Given the description of an element on the screen output the (x, y) to click on. 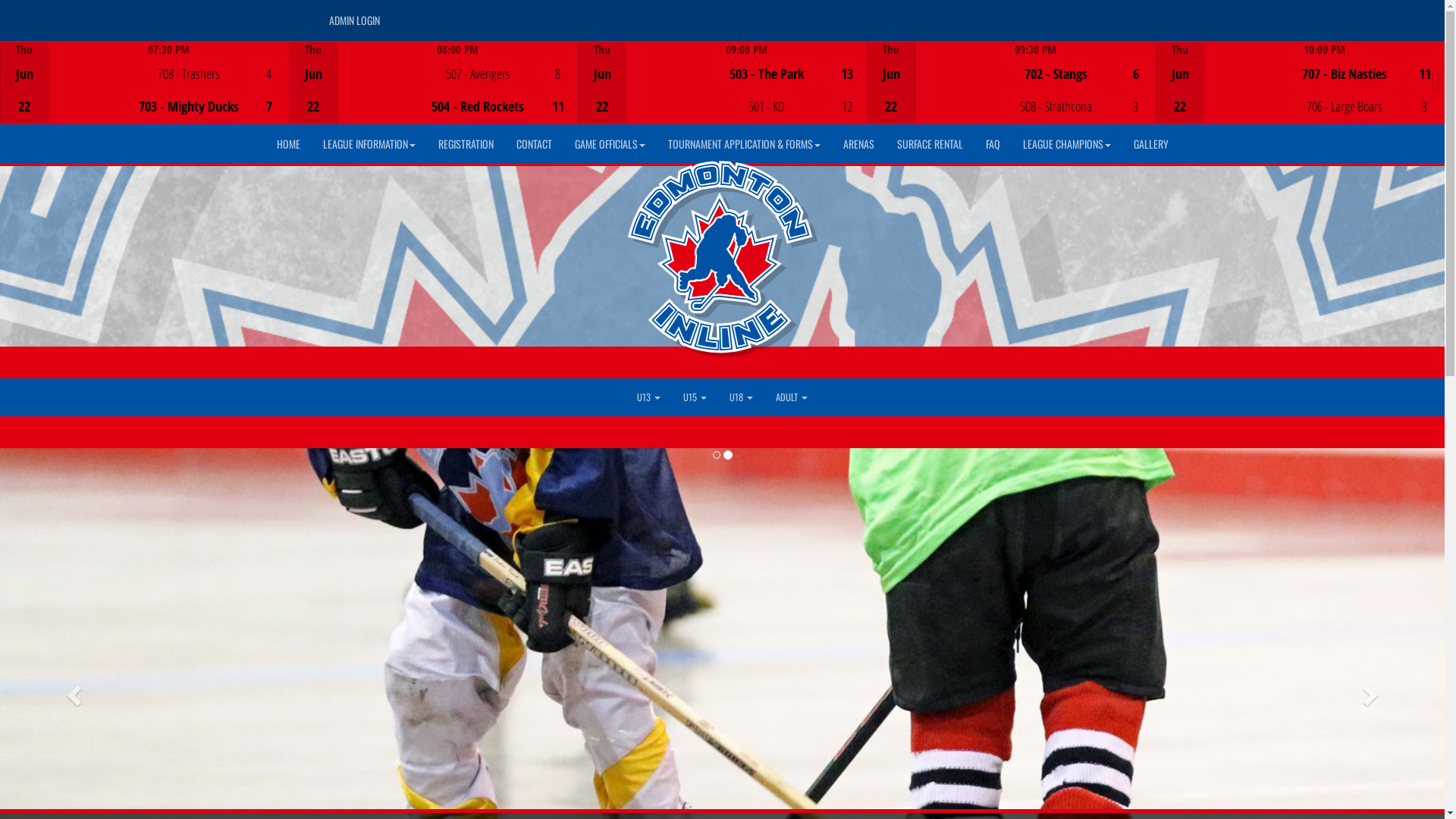
Next Element type: text (1435, 80)
Facebook Element type: text (1084, 15)
U13 Element type: text (648, 397)
SURFACE RENTAL Element type: text (929, 144)
Previous Element type: text (8, 83)
TOURNAMENT APPLICATION & FORMS Element type: text (743, 144)
U18 Element type: text (741, 397)
ADULT Element type: text (791, 397)
Twitter Element type: text (1106, 15)
GAME OFFICIALS Element type: text (608, 144)
U15 Element type: text (694, 397)
LEAGUE CHAMPIONS Element type: text (1066, 144)
CONTACT Element type: text (534, 144)
FAQ Element type: text (991, 144)
 ADMIN LOGIN
ADMIN LOGIN Element type: text (352, 20)
GALLERY Element type: text (1150, 144)
HOME Element type: text (288, 144)
REGISTRATION Element type: text (465, 144)
LEAGUE INFORMATION Element type: text (368, 144)
ARENAS Element type: text (857, 144)
